Given the description of an element on the screen output the (x, y) to click on. 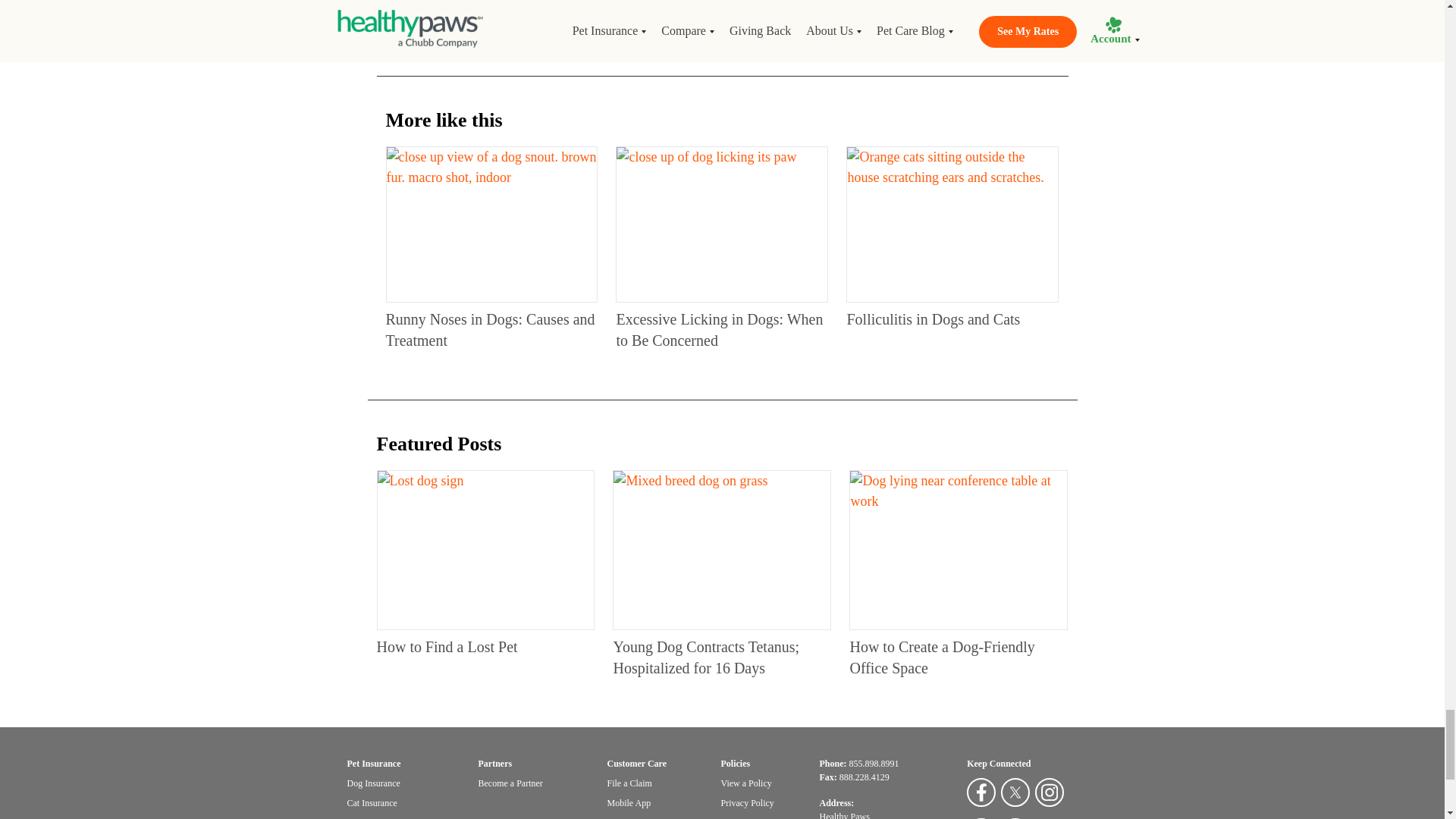
Runny Noses in Dogs: Causes and Treatment (491, 224)
